Given the description of an element on the screen output the (x, y) to click on. 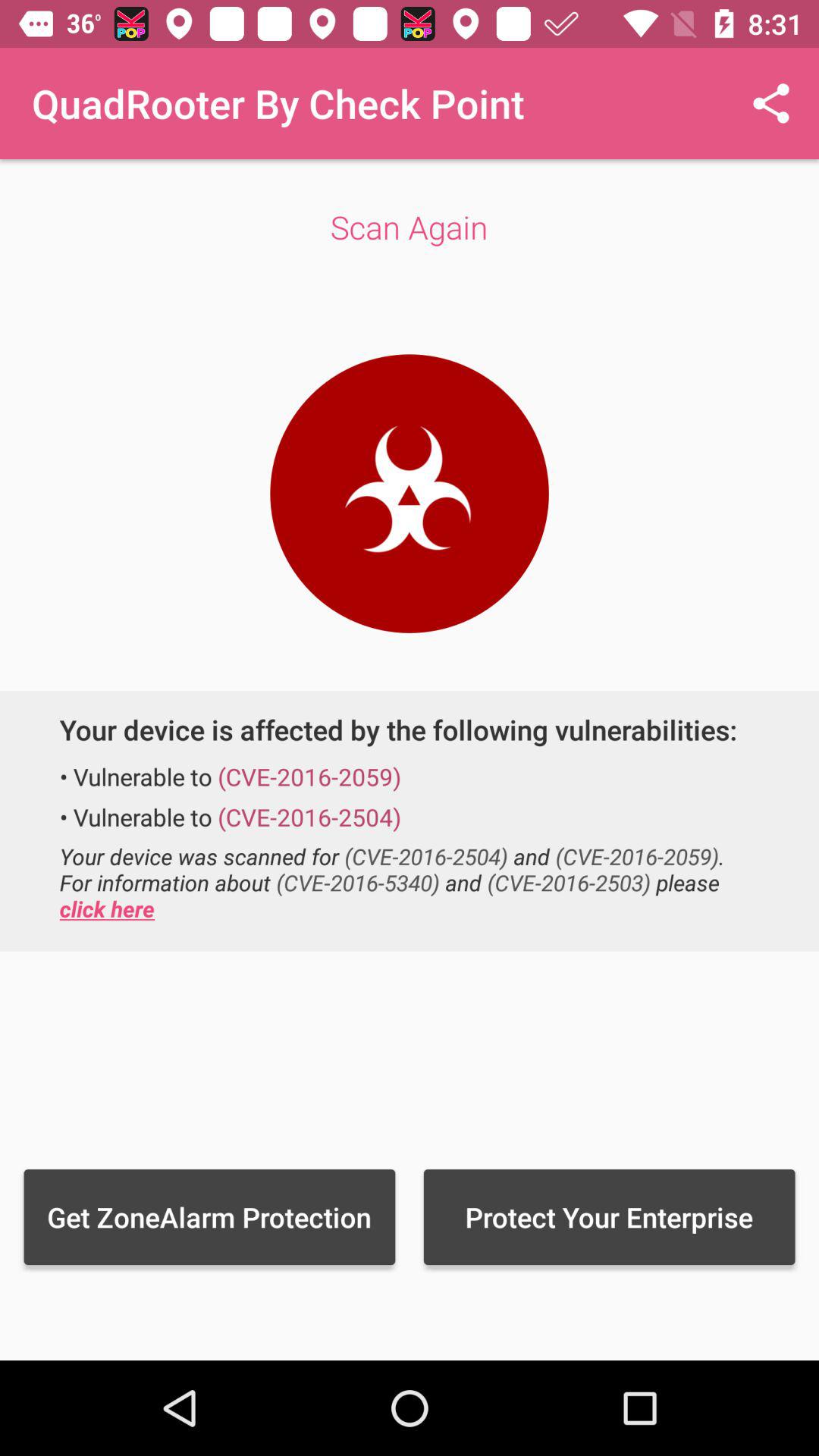
turn on scan again icon (408, 226)
